Given the description of an element on the screen output the (x, y) to click on. 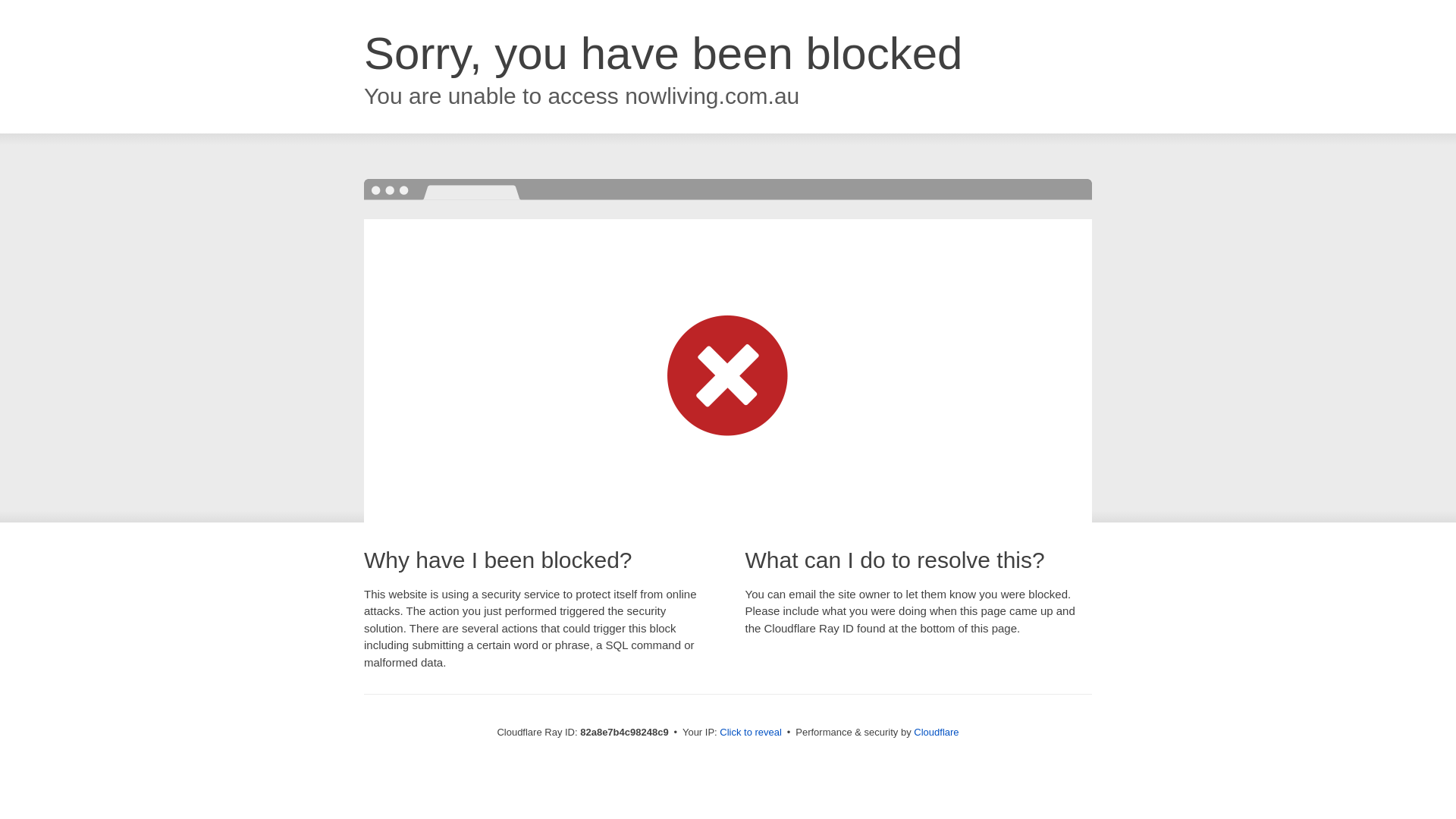
Click to reveal Element type: text (750, 732)
Cloudflare Element type: text (935, 731)
